Given the description of an element on the screen output the (x, y) to click on. 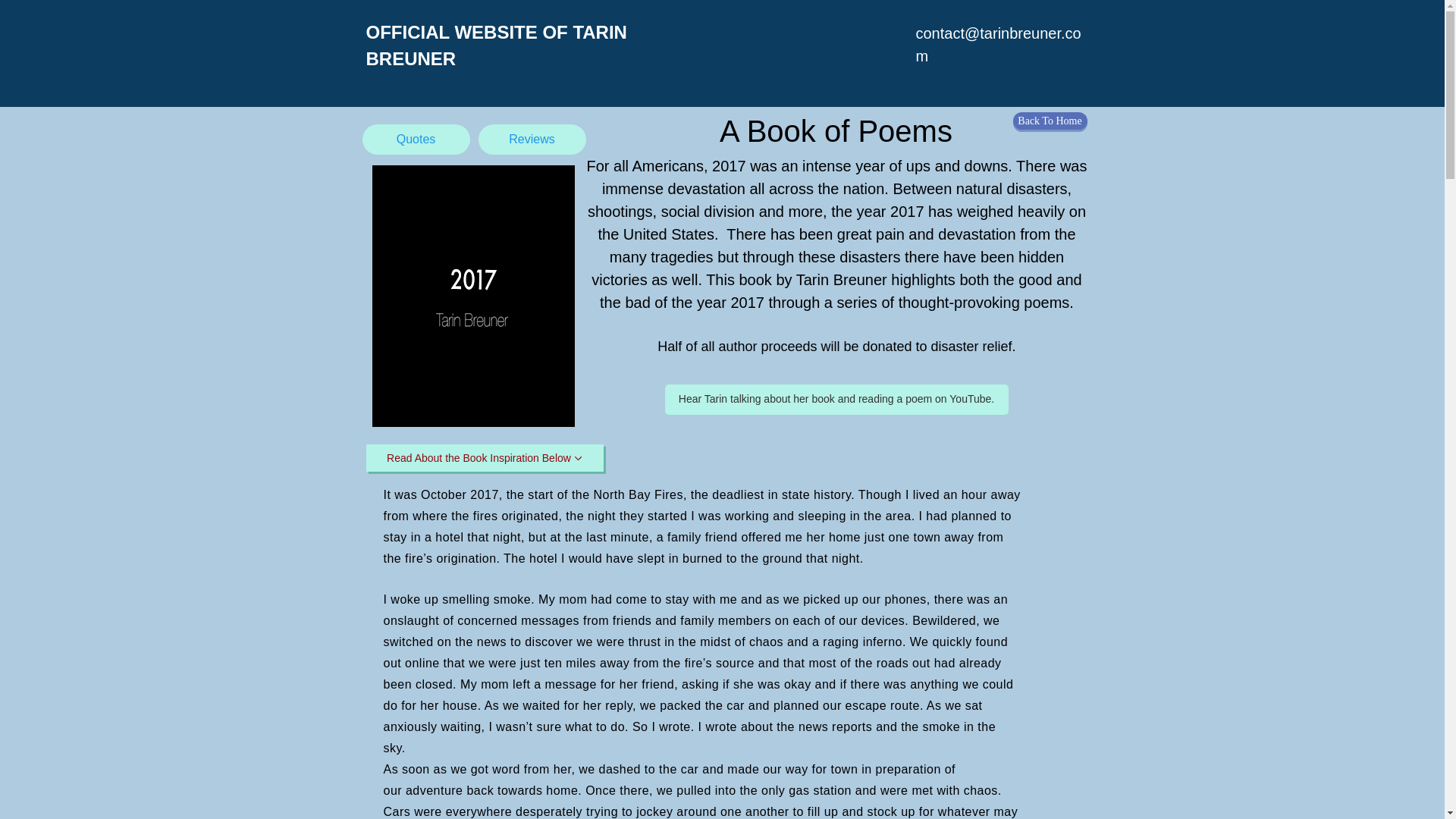
Reviews (531, 139)
Read About the Book Inspiration Below (483, 457)
Quotes (416, 139)
Back To Home (1050, 120)
